Given the description of an element on the screen output the (x, y) to click on. 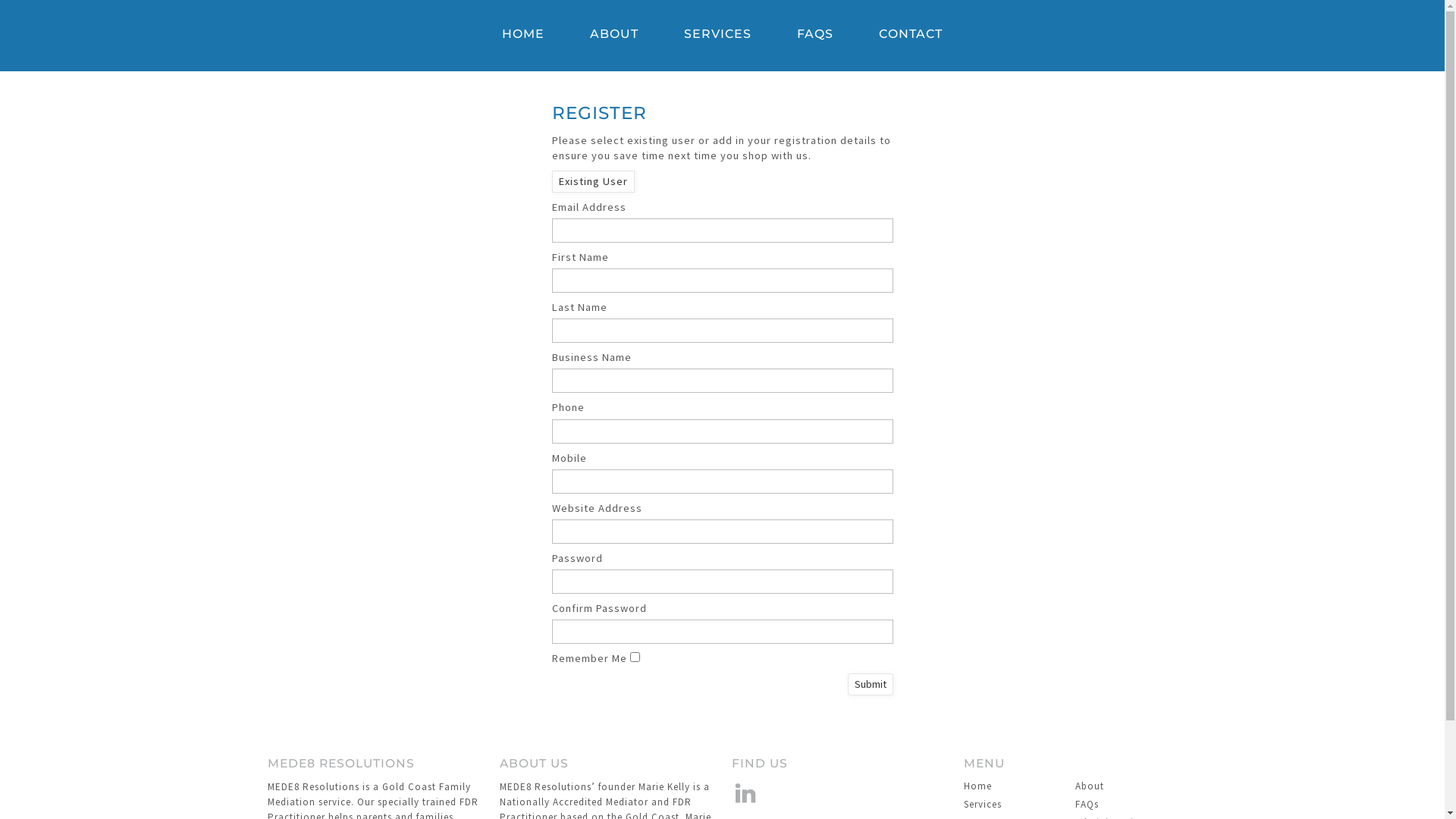
FAQs Element type: text (1125, 804)
Website Address Element type: hover (722, 531)
Confirm Password Element type: hover (722, 631)
Email Address Element type: hover (722, 230)
Password Element type: hover (722, 581)
Phone Element type: hover (722, 431)
CONTACT Element type: text (910, 35)
Services Element type: text (1014, 804)
First Name Element type: hover (722, 280)
Remember Me Element type: hover (634, 657)
Existing User Element type: text (593, 180)
Last Name Element type: hover (722, 330)
About Element type: text (1125, 785)
Submit Element type: text (870, 683)
Mobile Element type: hover (722, 481)
FAQS Element type: text (815, 35)
ABOUT Element type: text (613, 35)
Business Name Element type: hover (722, 380)
HOME Element type: text (523, 35)
SERVICES Element type: text (717, 35)
Home Element type: text (1014, 785)
